Given the description of an element on the screen output the (x, y) to click on. 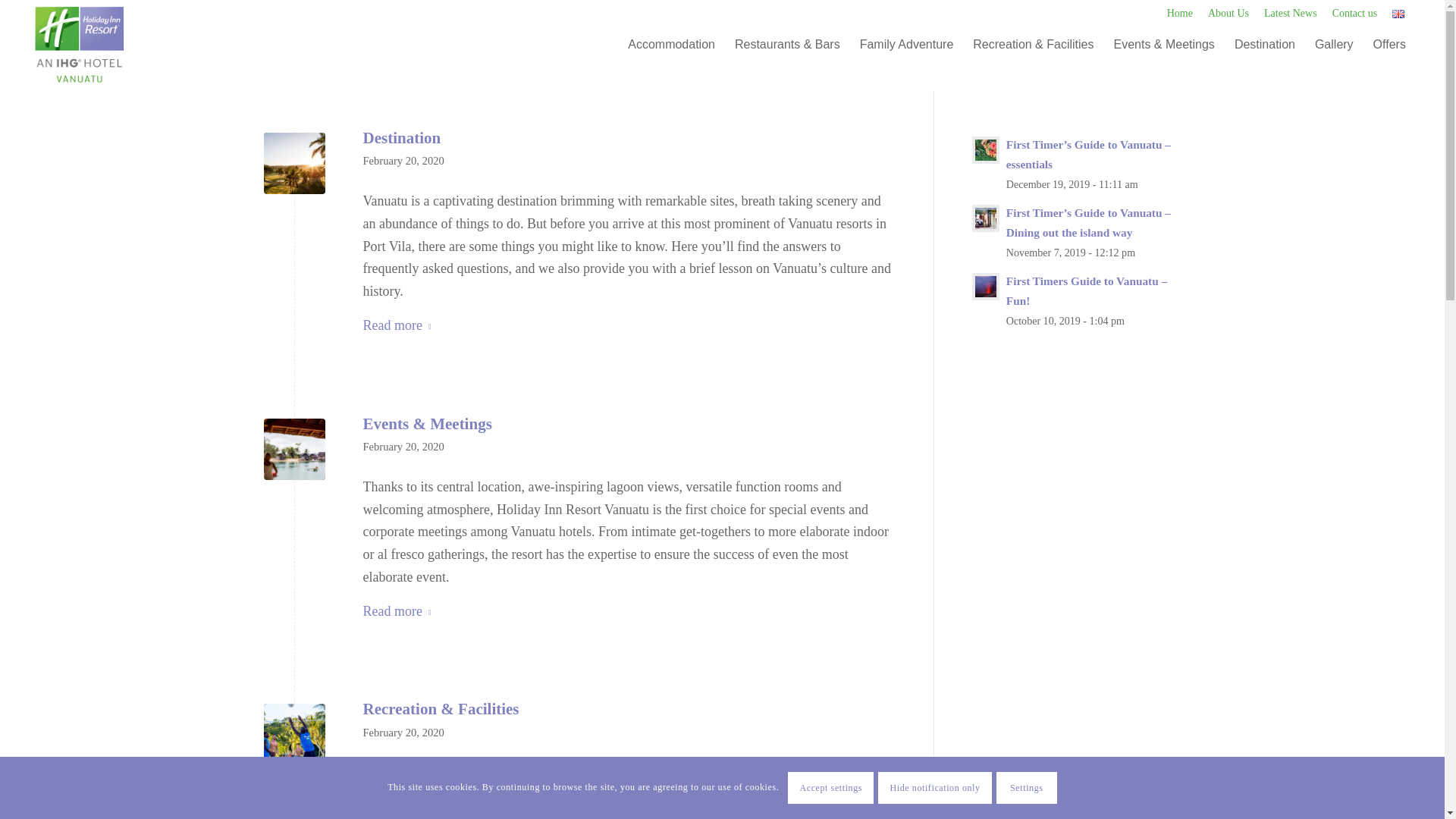
About Us (1228, 13)
Accommodation (671, 44)
Contact us (1354, 13)
Latest News (1290, 13)
Family Adventure (906, 44)
Home (1179, 13)
